Given the description of an element on the screen output the (x, y) to click on. 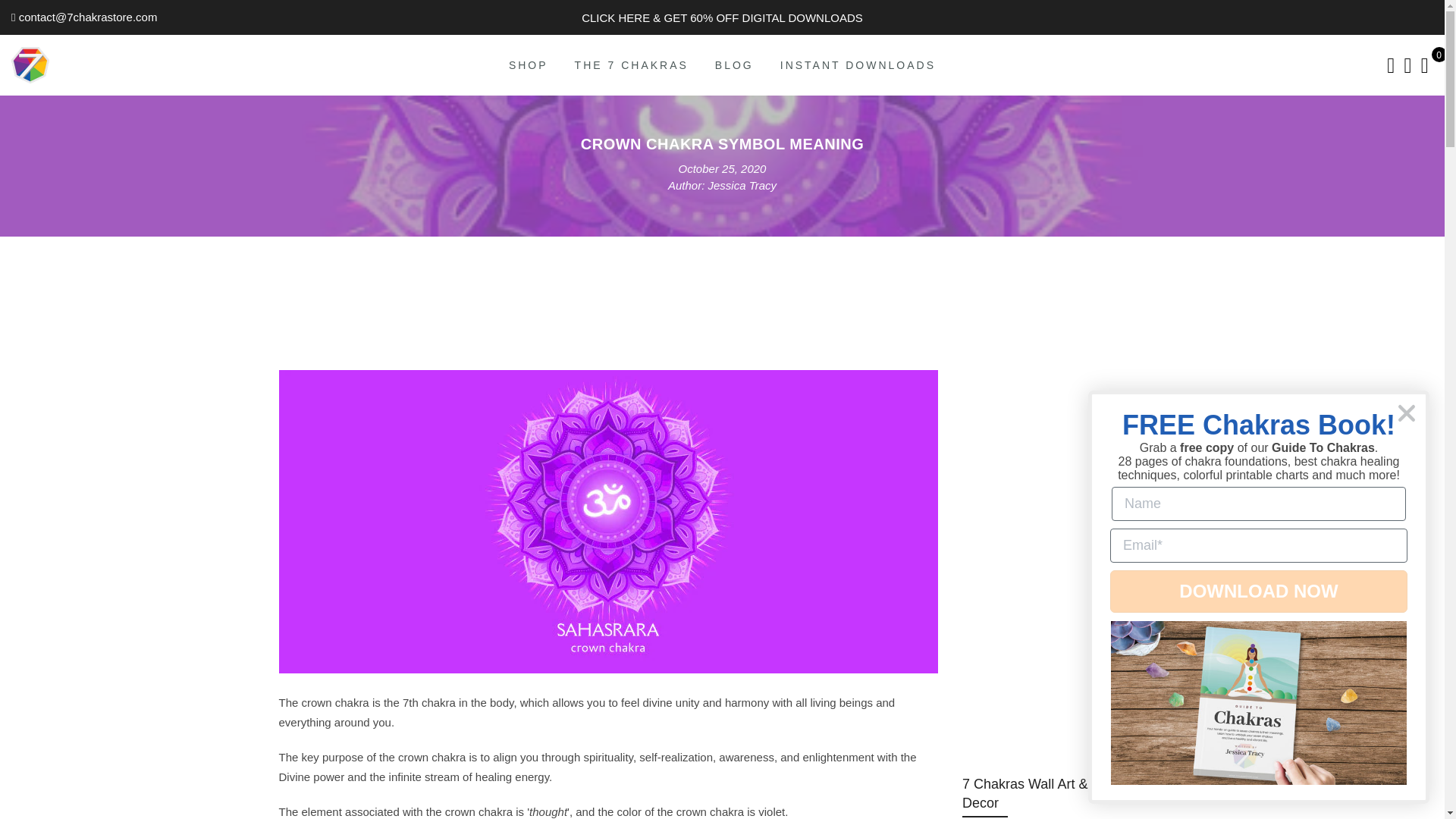
Advertisement (609, 315)
